Given the description of an element on the screen output the (x, y) to click on. 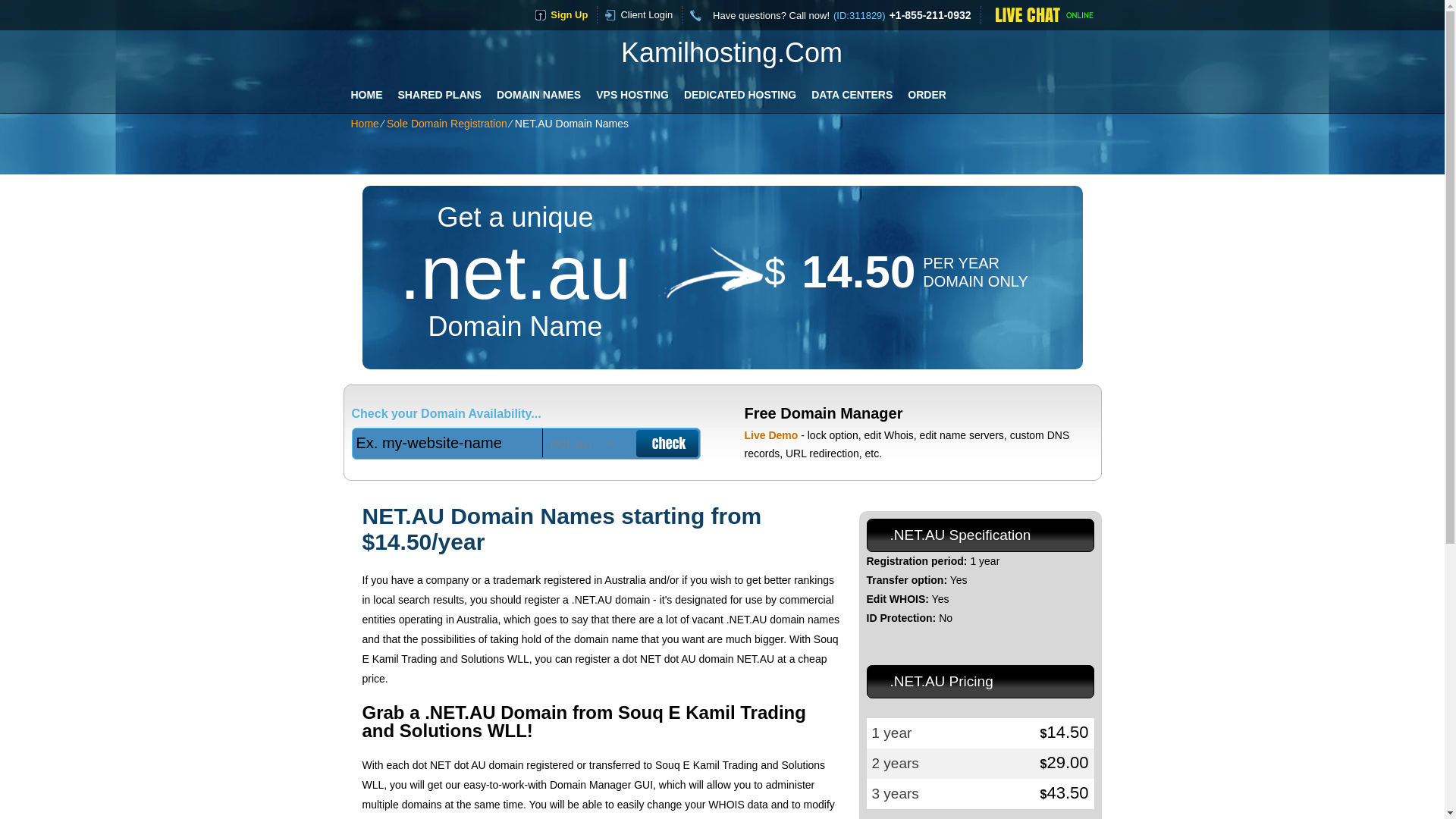
VPS HOSTING (632, 94)
Ex. my-website-name (446, 442)
ORDER (926, 94)
DATA CENTERS (851, 94)
Live Demo (770, 435)
sign up (565, 14)
HOME (366, 94)
Home (364, 123)
DOMAIN NAMES (538, 94)
DEDICATED HOSTING (740, 94)
